Given the description of an element on the screen output the (x, y) to click on. 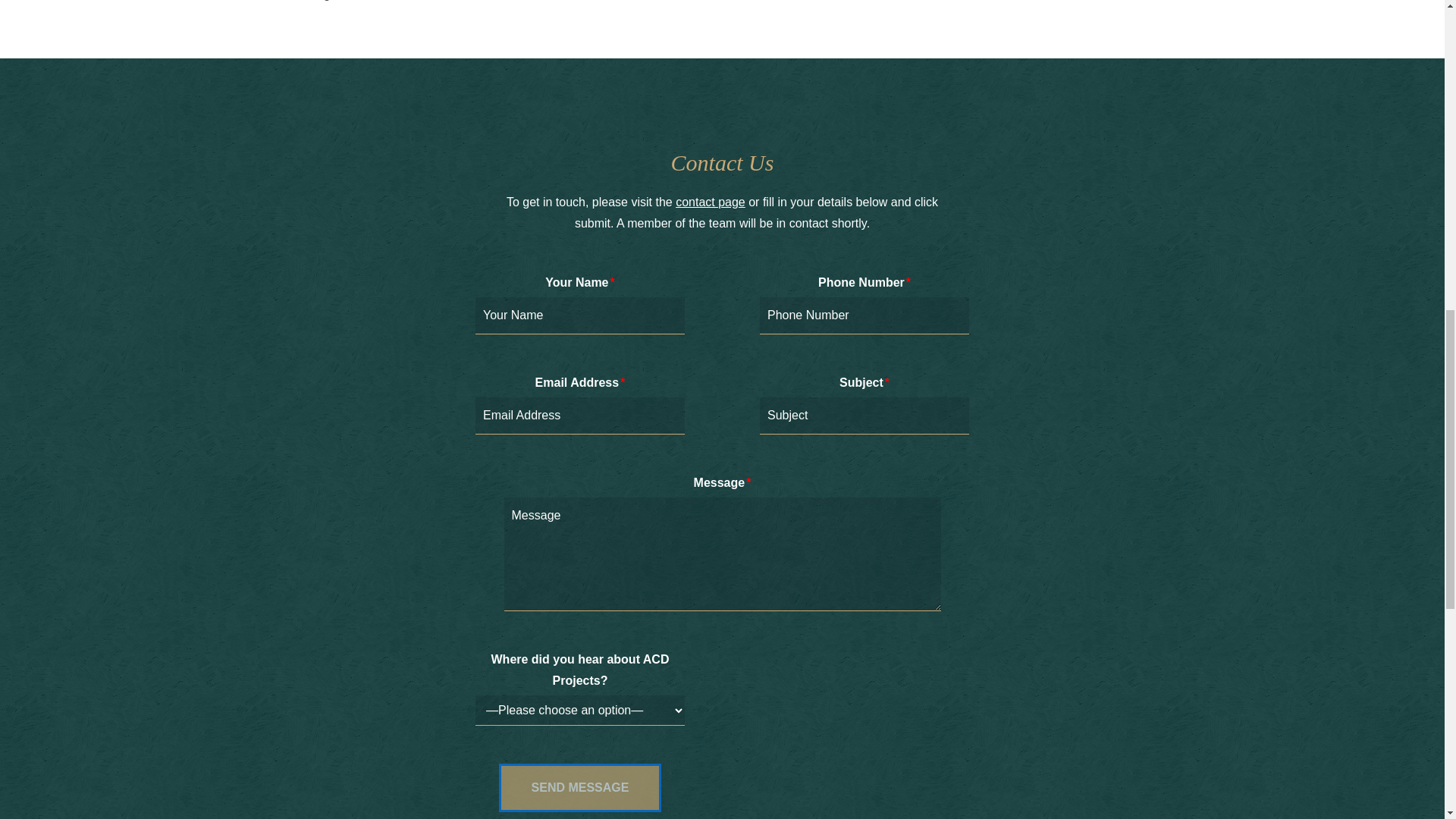
Send Message (580, 787)
